Given the description of an element on the screen output the (x, y) to click on. 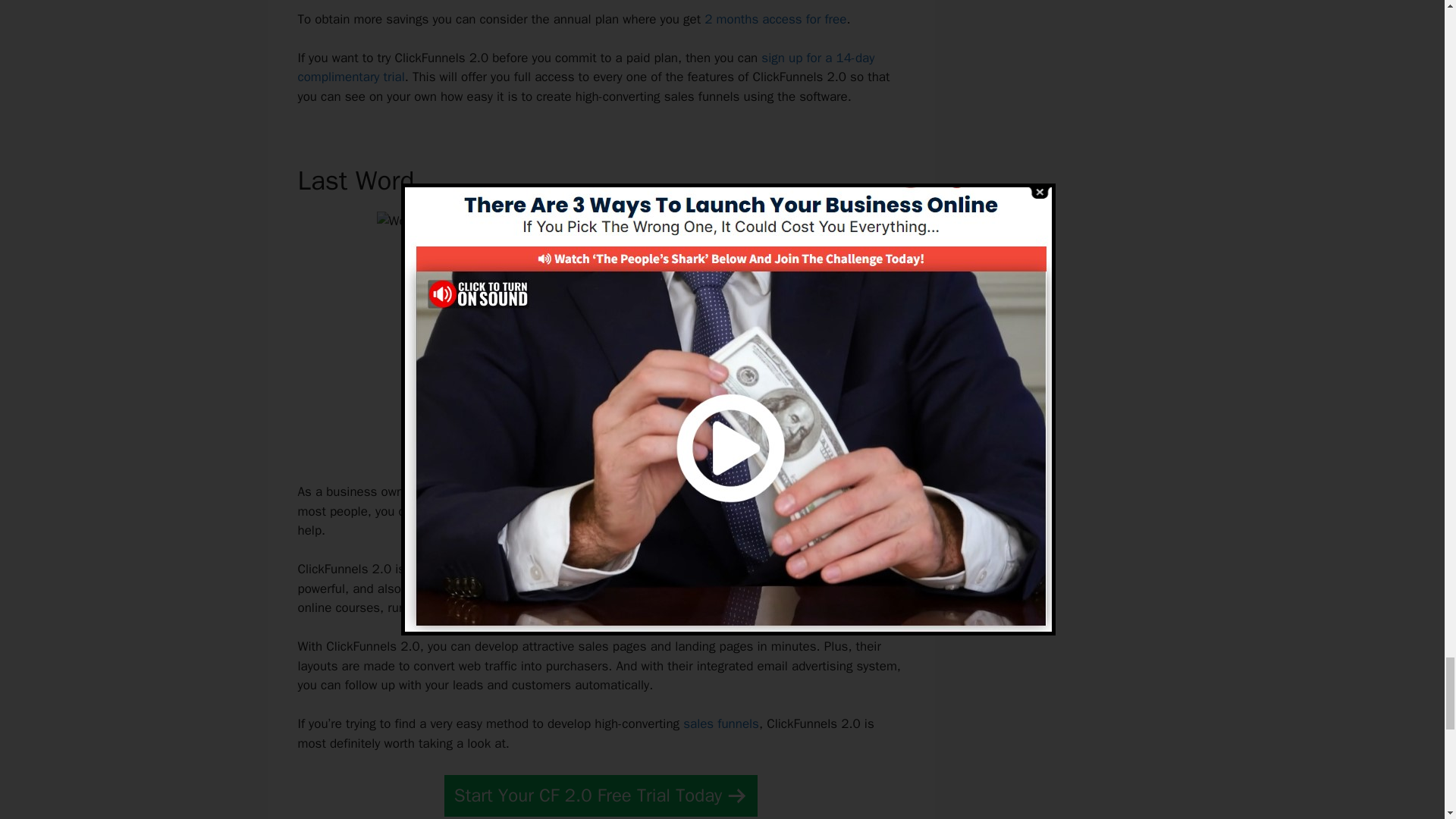
2 months access for free (774, 19)
Start Your CF 2.0 Free Trial Today (600, 795)
sales funnels (720, 723)
sign up for a 14-day complimentary trial (586, 67)
sales funnels are necessary for your success (661, 491)
